Given the description of an element on the screen output the (x, y) to click on. 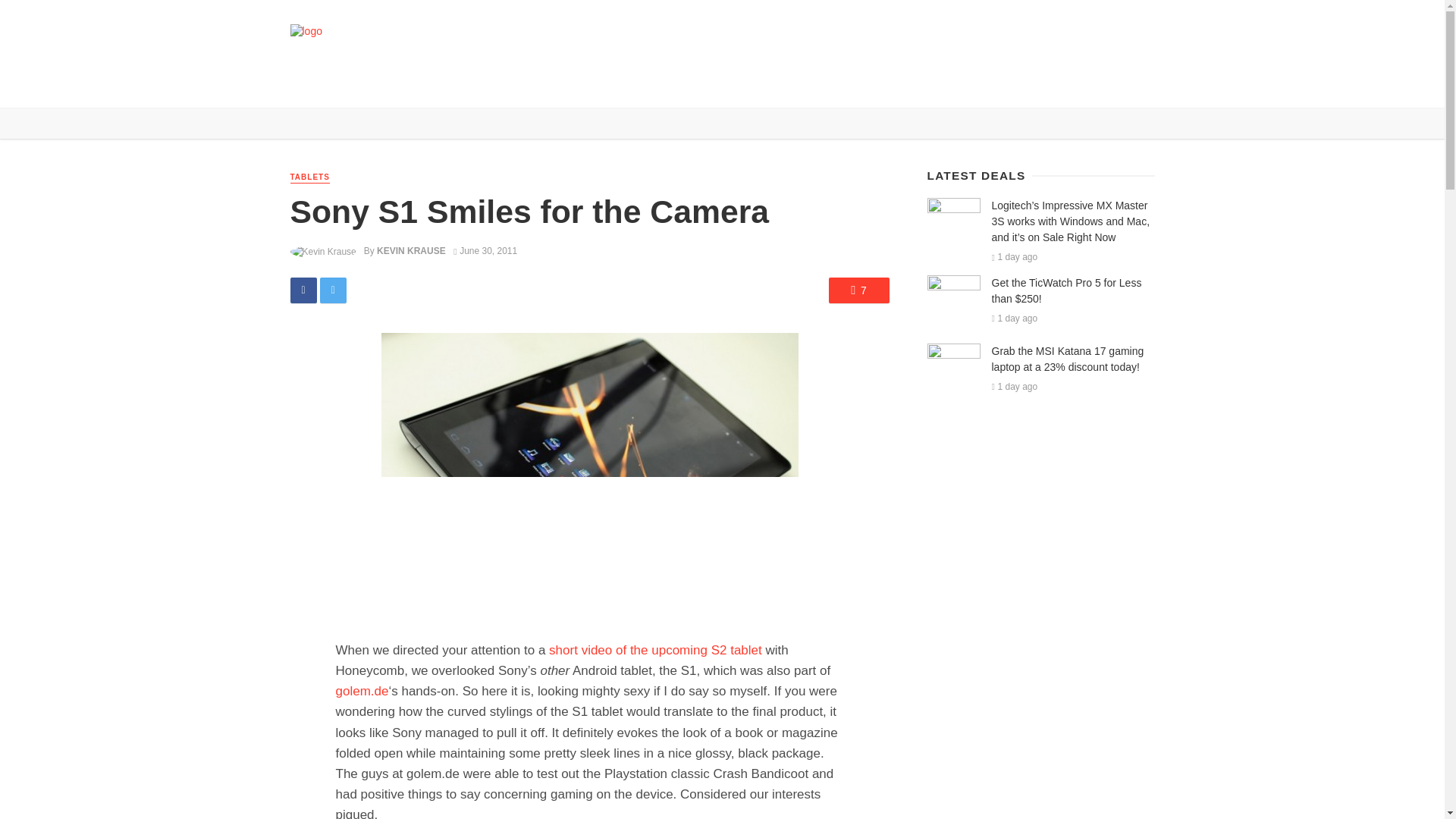
HOW TO (504, 85)
June 30, 2011 at 2:27 pm (484, 250)
DEALS (452, 85)
NEWS (345, 85)
Share on Twitter (333, 290)
short video of the upcoming S2 tablet (656, 649)
Share on Facebook (302, 290)
OPINION (560, 85)
sony-s1 (588, 475)
KEVIN KRAUSE (411, 250)
